Given the description of an element on the screen output the (x, y) to click on. 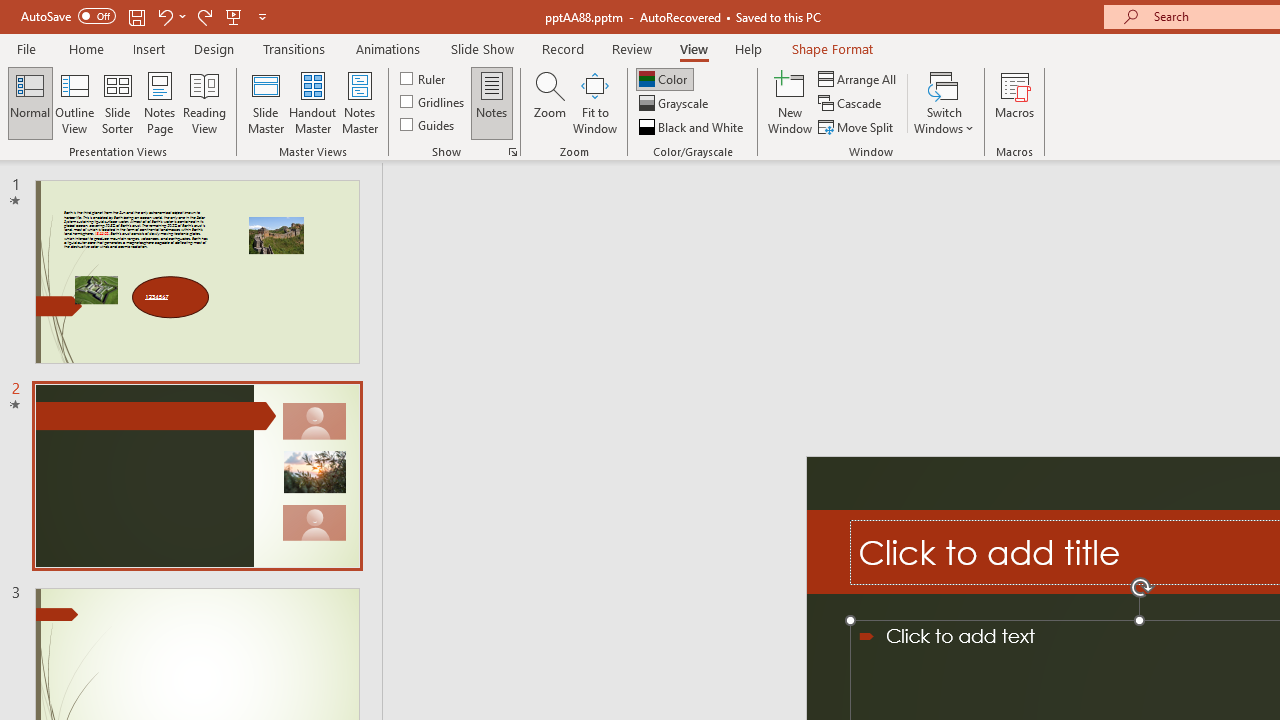
Notes Master (360, 102)
Black and White (693, 126)
Zoom... (549, 102)
Notes Page (159, 102)
Grayscale (675, 103)
Gridlines (433, 101)
